Given the description of an element on the screen output the (x, y) to click on. 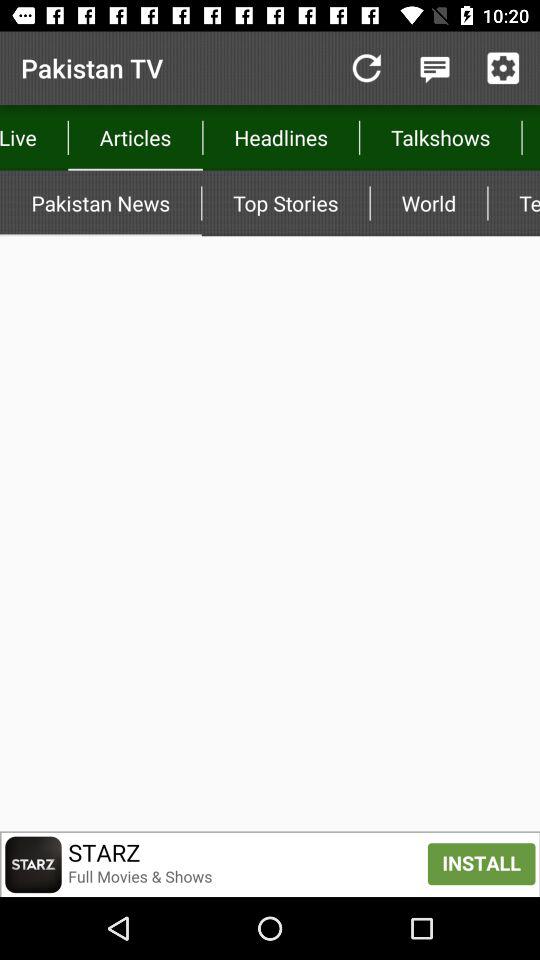
refresh page (366, 67)
